Given the description of an element on the screen output the (x, y) to click on. 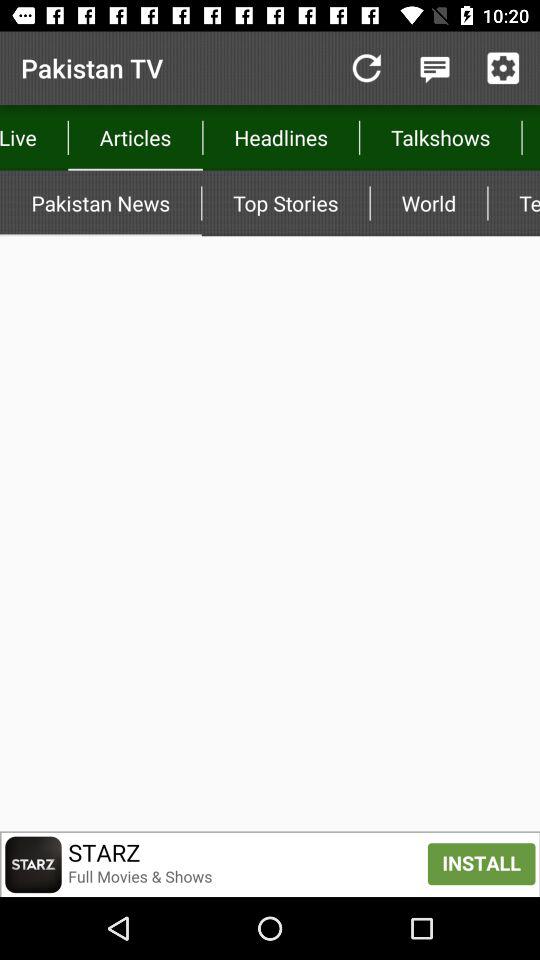
refresh page (366, 67)
